Given the description of an element on the screen output the (x, y) to click on. 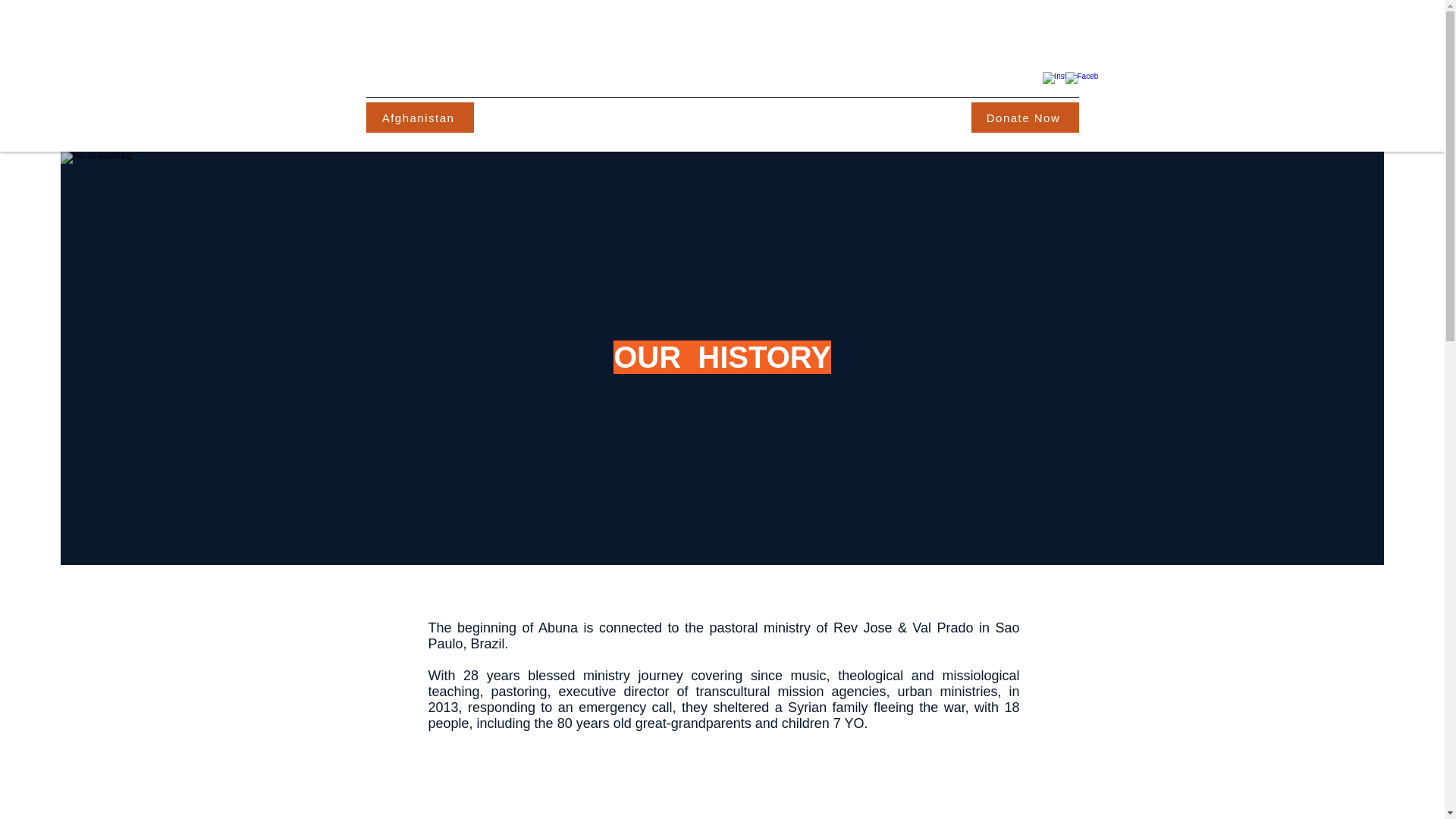
Donate Now (1024, 117)
Afghanistan (419, 117)
